Given the description of an element on the screen output the (x, y) to click on. 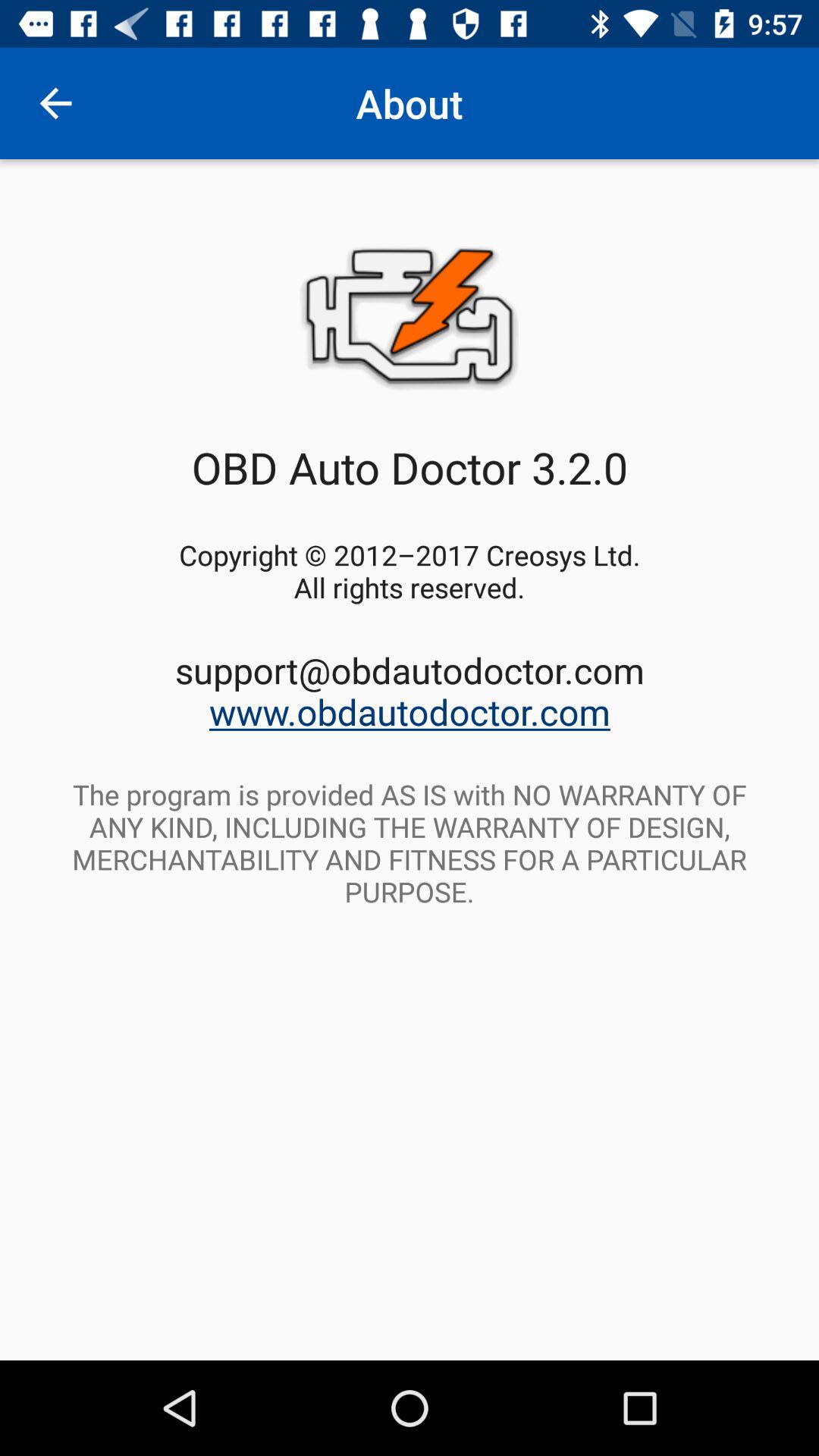
click support obdautodoctor com icon (409, 690)
